Given the description of an element on the screen output the (x, y) to click on. 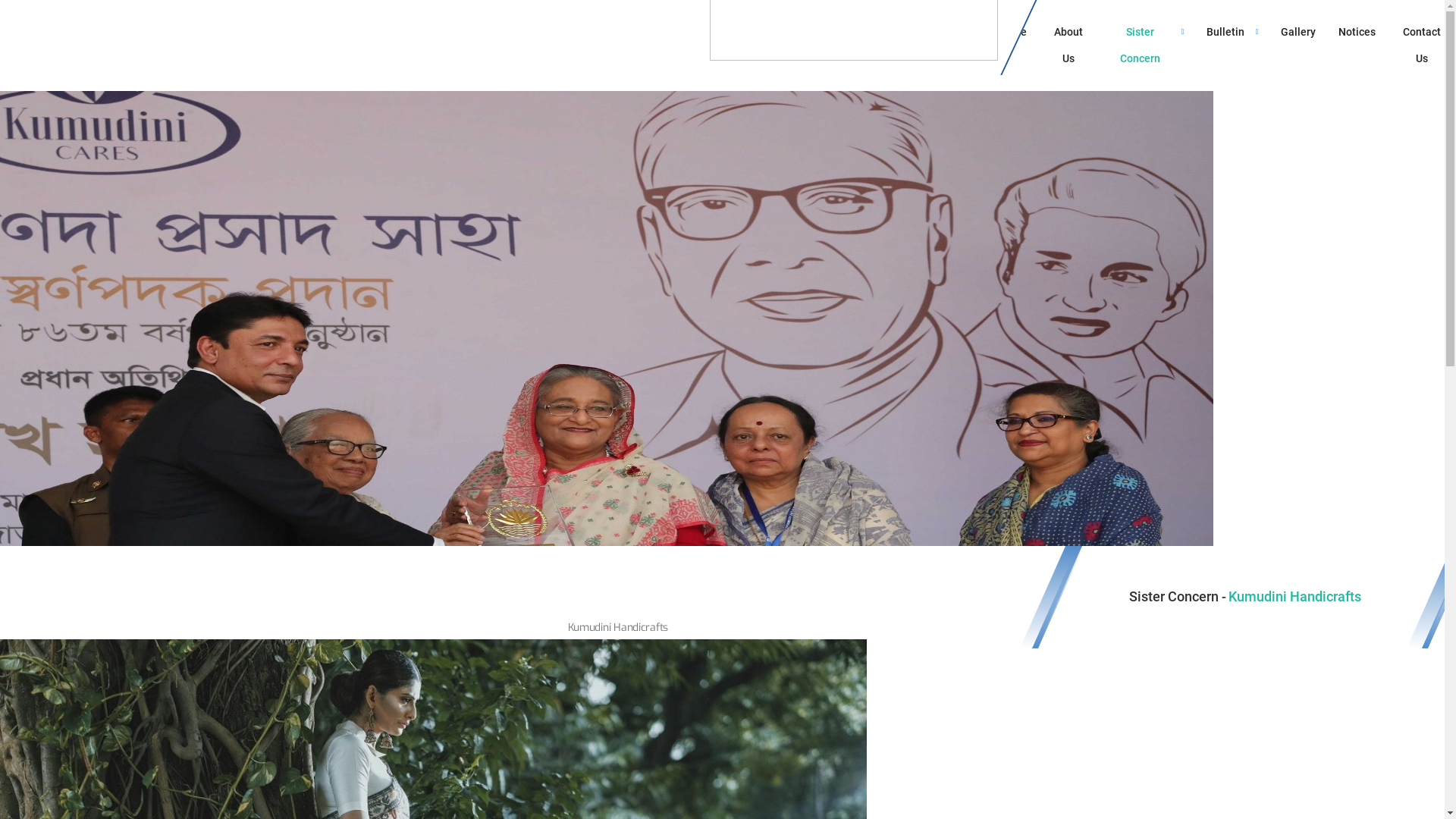
COVID 19 Element type: text (725, 20)
Home Element type: text (1011, 45)
About Us Element type: text (1068, 45)
Notices Element type: text (1356, 45)
Sister Concern Element type: text (1147, 45)
Gallery Element type: text (1297, 45)
Call: 880-2-7633545-46, 7635052 Element type: text (372, 26)
kumudiniho@kumudini.org.bd Element type: text (569, 26)
Sister Concern - Element type: text (1177, 596)
Contact Us Element type: text (1421, 45)
Bulletin Element type: text (1232, 45)
